Given the description of an element on the screen output the (x, y) to click on. 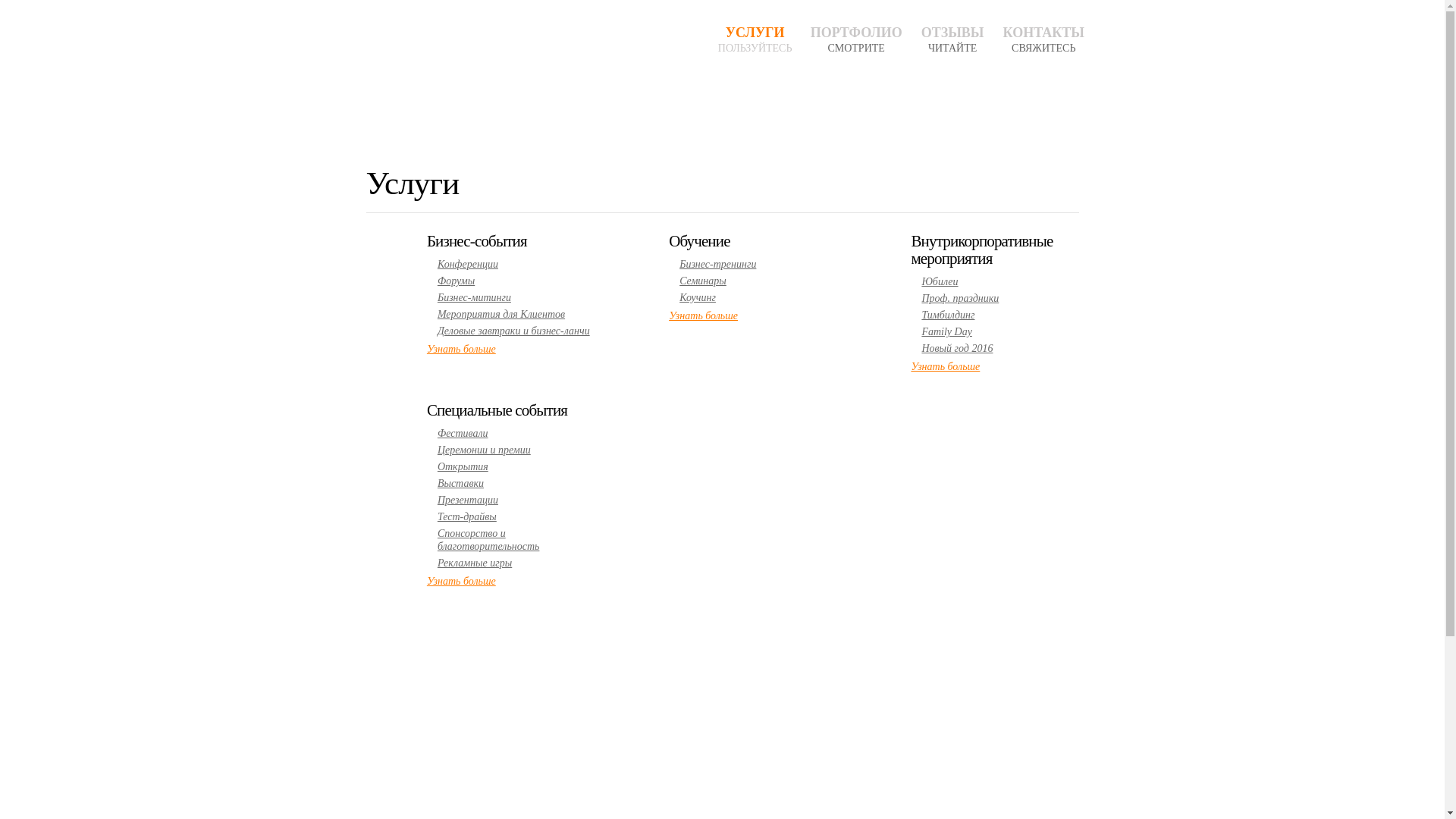
Family Day Element type: text (946, 331)
